Given the description of an element on the screen output the (x, y) to click on. 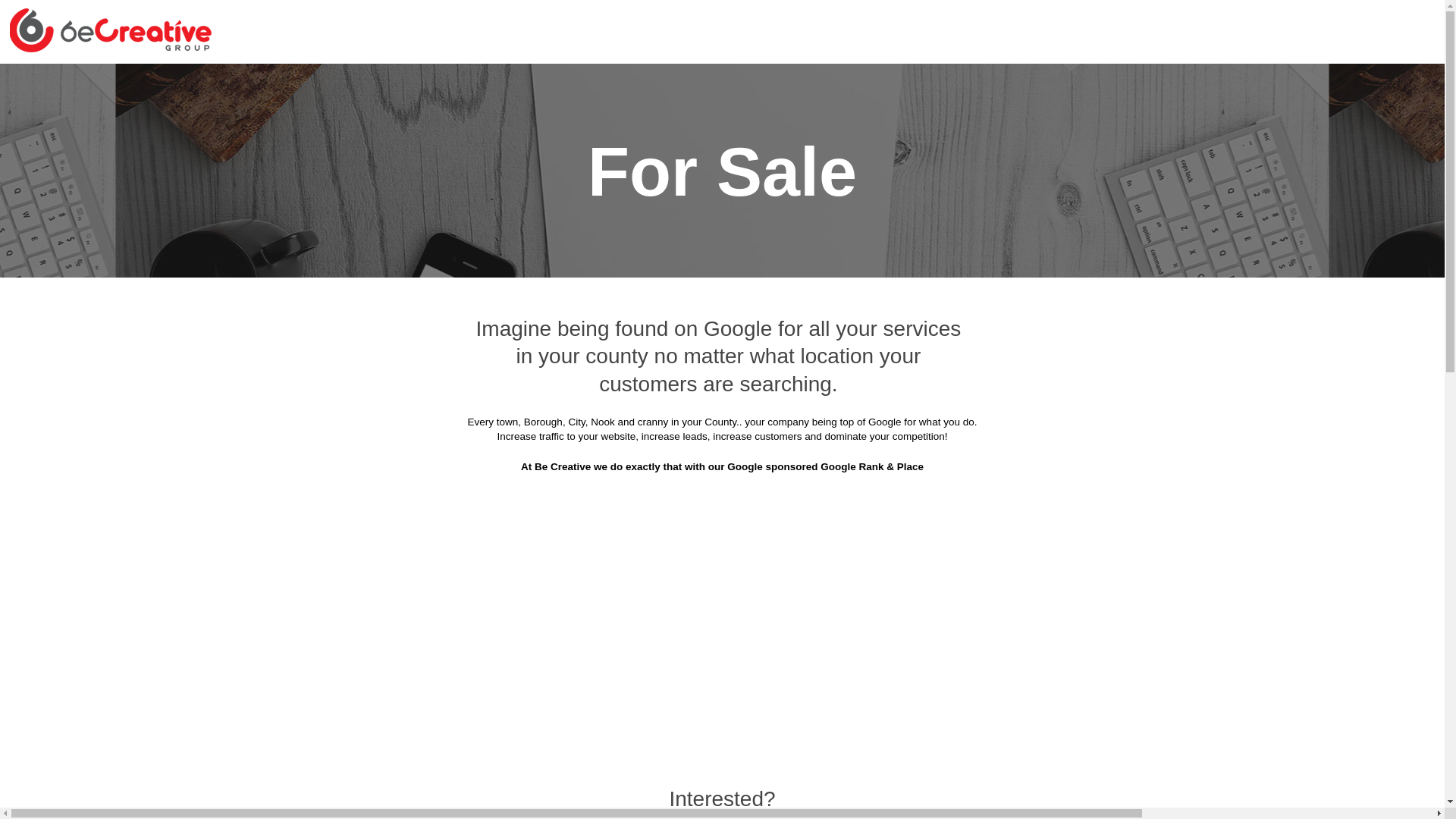
Aggregate Suppliers Exeter Devon (870, 271)
Aggregate Suppliers Buckfastleigh Devon (860, 158)
Aggregate Suppliers Camborne Cornwall (1072, 196)
Aggregate Suppliers Chudleigh Devon (622, 234)
Aggregate Suppliers Bodmin Cornwall (837, 121)
Aggregate Suppliers Great Torrington Devon (1062, 309)
Aggregate Suppliers Bude Cornwall (1086, 158)
Aggregate Suppliers Brixham Devon (632, 158)
Groundworks and Plant Hire (358, 45)
Aggregate Suppliers Dawlish Devon (663, 271)
Aggregate Suppliers Falmouth Cornwall (600, 309)
Aggregate Suppliers Hayle Cornwall (631, 346)
Aggregate Suppliers Budleigh Salterton Devon (582, 196)
Aggregate Suppliers Barnstaple Devon (395, 121)
Aggregate Suppliers Ilfracombe Devon (625, 383)
